Given the description of an element on the screen output the (x, y) to click on. 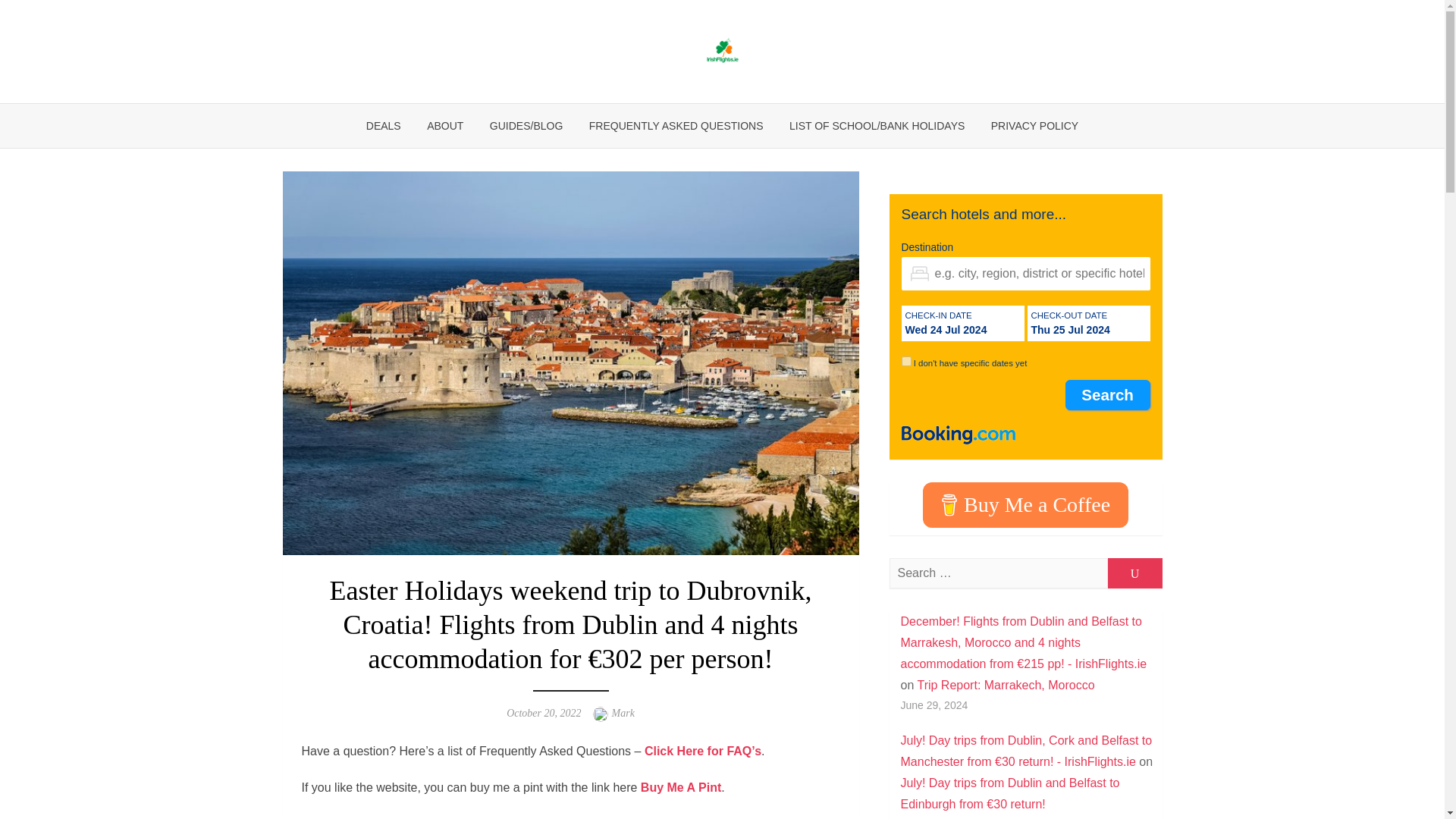
Buy Me A Pint (680, 787)
SEARCH (1133, 572)
Search (1107, 395)
Trip Report: Marrakech, Morocco (1005, 684)
Mark (622, 713)
Buy Me a Coffee (1025, 504)
on (906, 361)
DEALS (383, 125)
PRIVACY POLICY (1034, 125)
Search (1107, 395)
ABOUT (444, 125)
October 20, 2022 (543, 713)
FREQUENTLY ASKED QUESTIONS (676, 125)
e.g. city, region, district or specific hotel (1025, 273)
